Given the description of an element on the screen output the (x, y) to click on. 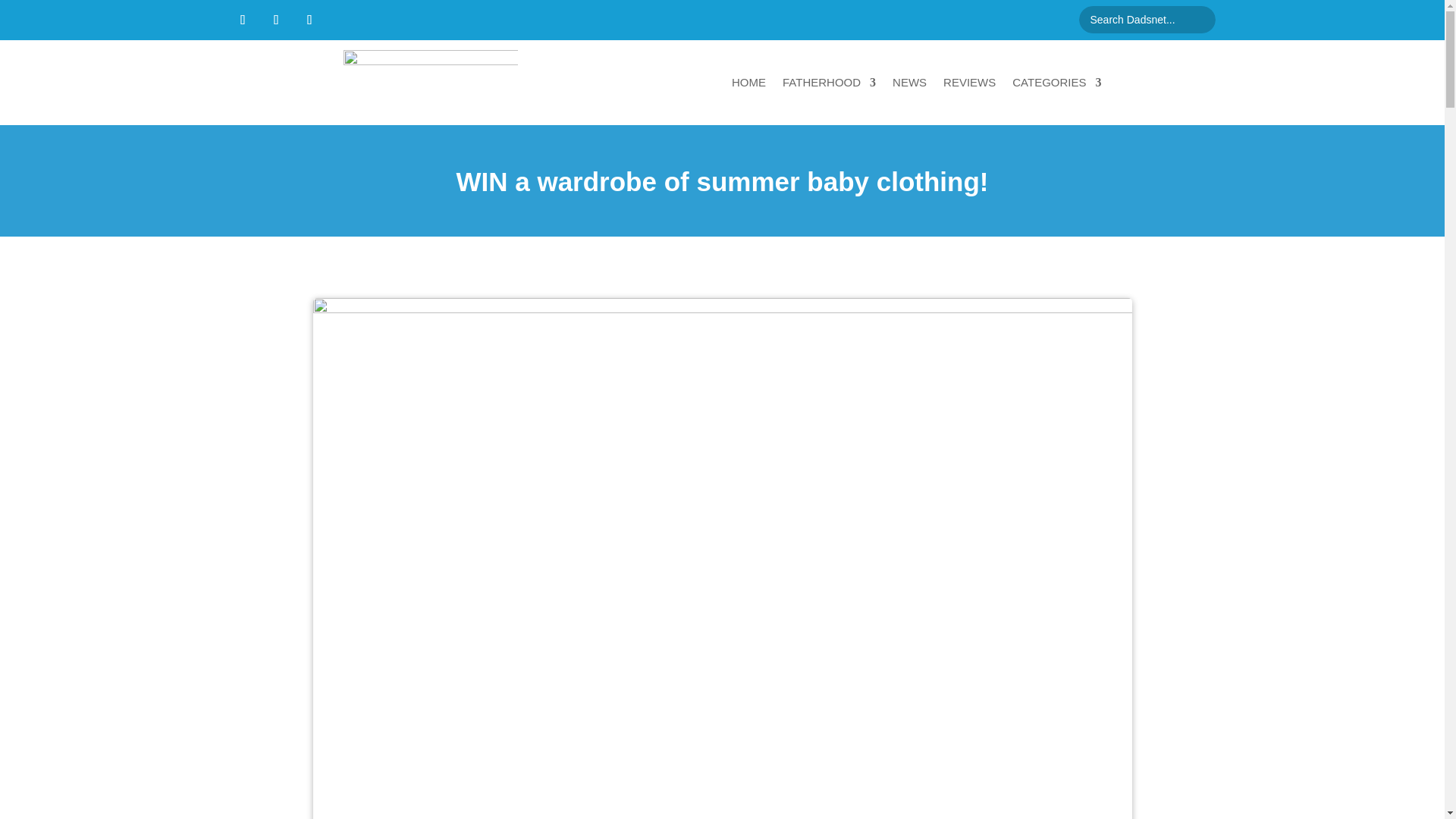
HOME (748, 82)
Follow on Facebook (242, 19)
FATHERHOOD (829, 82)
Search (24, 13)
CATEGORIES (1055, 82)
REVIEWS (969, 82)
NEWS (909, 82)
Follow on Instagram (309, 19)
Follow on X (275, 19)
